Given the description of an element on the screen output the (x, y) to click on. 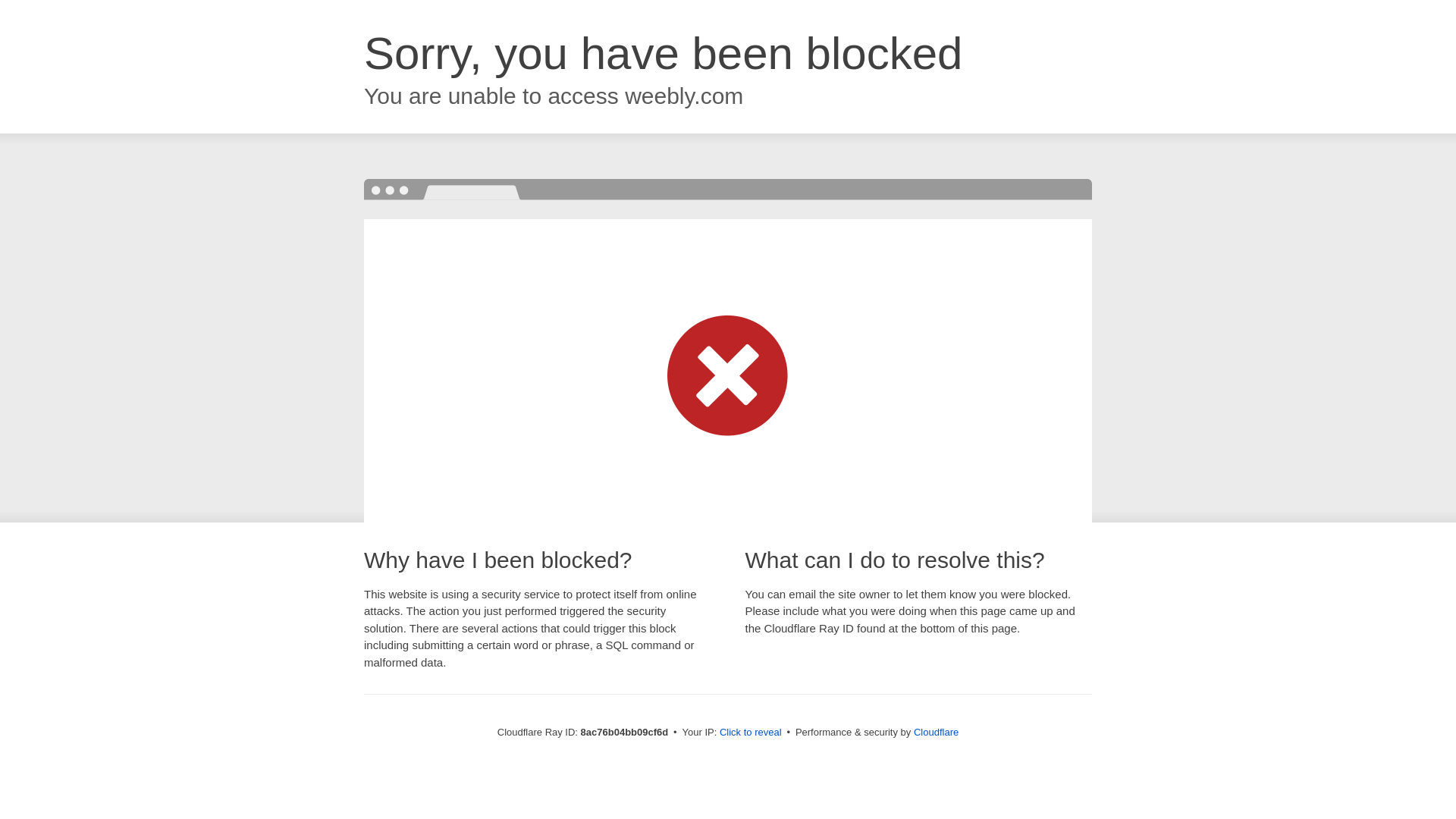
Click to reveal (750, 732)
Cloudflare (936, 731)
